Given the description of an element on the screen output the (x, y) to click on. 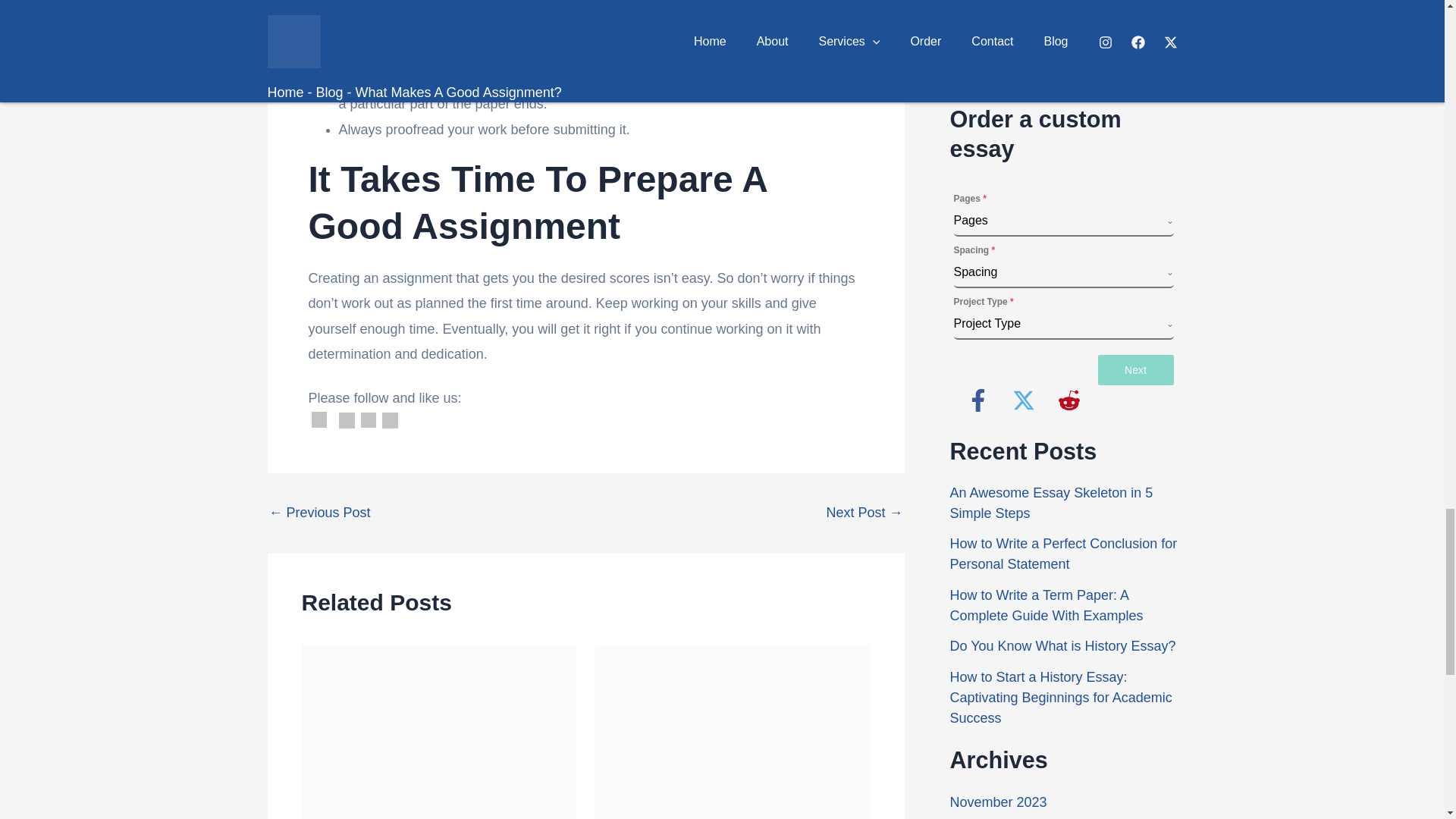
Facebook Share (347, 420)
Tweet (369, 420)
How To Write An Assignment (318, 512)
Pin Share (389, 420)
Are Essay Writing Services Legal? (863, 512)
